Given the description of an element on the screen output the (x, y) to click on. 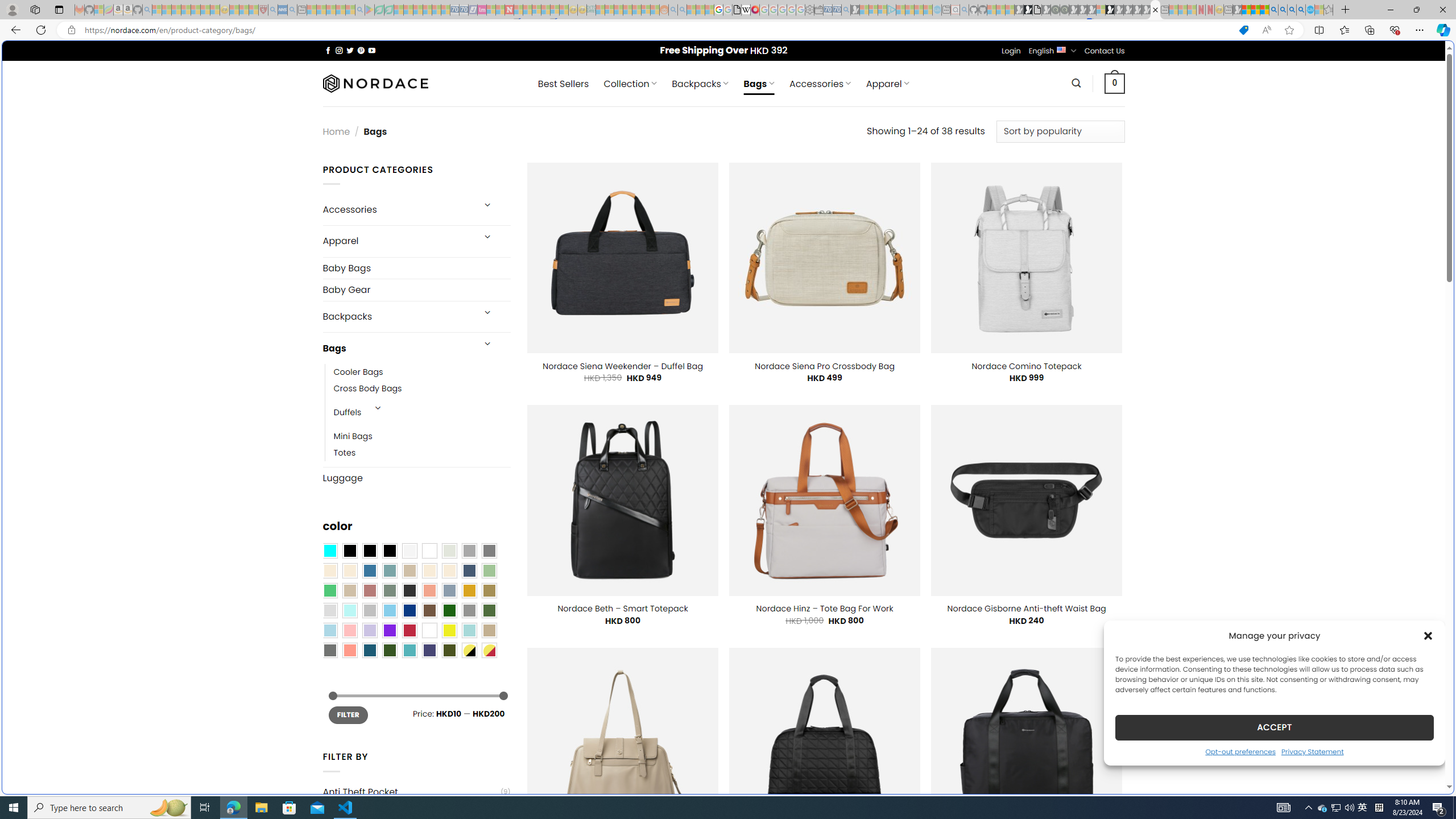
Services - Maintenance | Sky Blue Bikes - Sky Blue Bikes (1309, 9)
Baby Gear (416, 289)
Nordace Gisborne Anti-theft Waist Bag (1026, 608)
Baby Bags (416, 267)
Cross Body Bags (422, 388)
FILTER (347, 714)
Follow on Pinterest (360, 49)
Bing AI - Search (1272, 9)
